Given the description of an element on the screen output the (x, y) to click on. 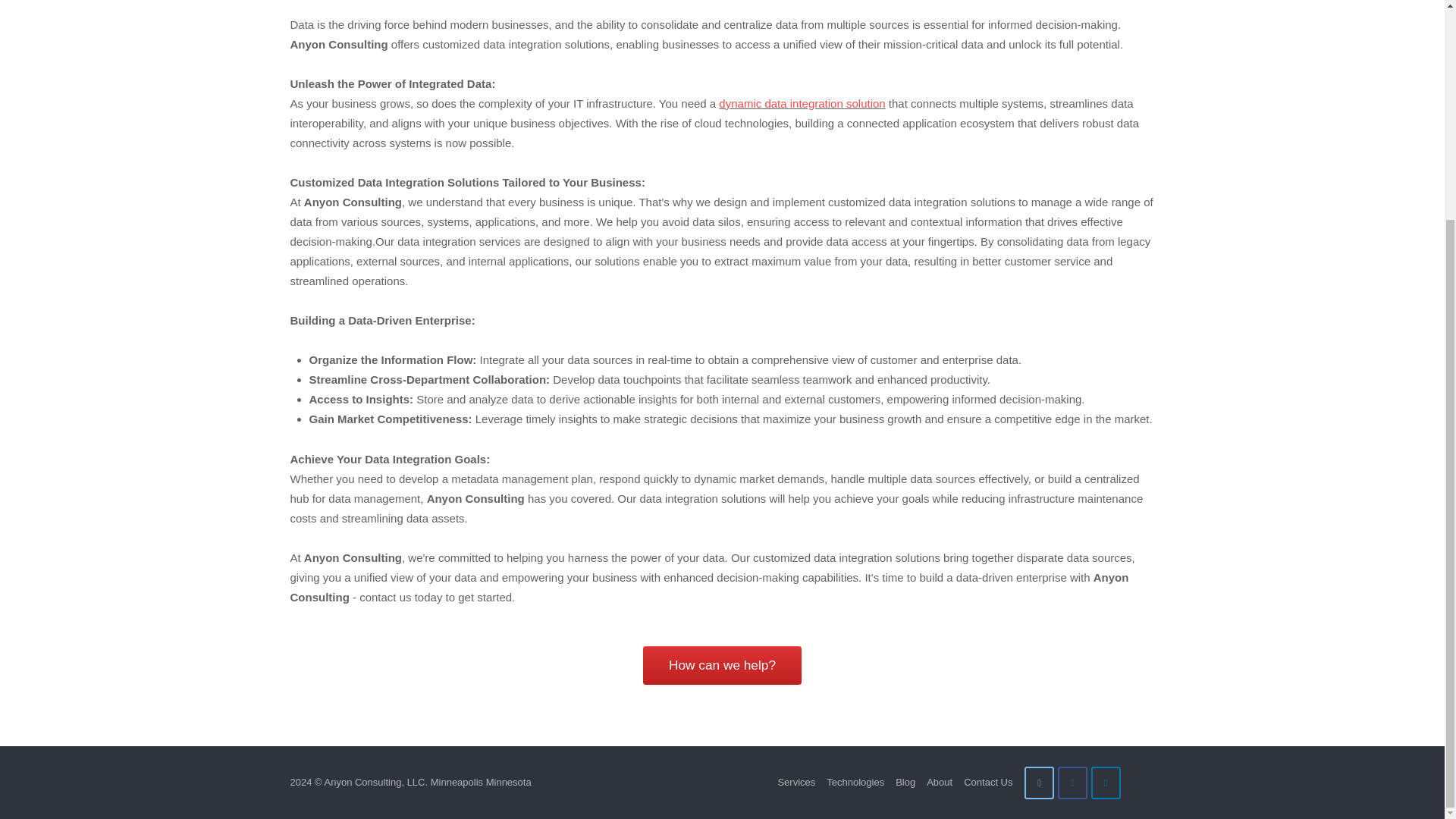
Technologies (855, 781)
How can we help? (722, 665)
Front-End Technologies (722, 665)
Services (796, 781)
Contact Us (987, 781)
Blog (905, 781)
Anyon Consulting, LLC. Minneapolis Minnesota on  (1139, 782)
About (939, 781)
Anyon Consulting official Facebook Account (1072, 782)
Anyon Consulting official LinkedIn Account (1105, 782)
dynamic data integration solution (802, 103)
Anyon Consulting Official Twitter Account (1039, 782)
